Given the description of an element on the screen output the (x, y) to click on. 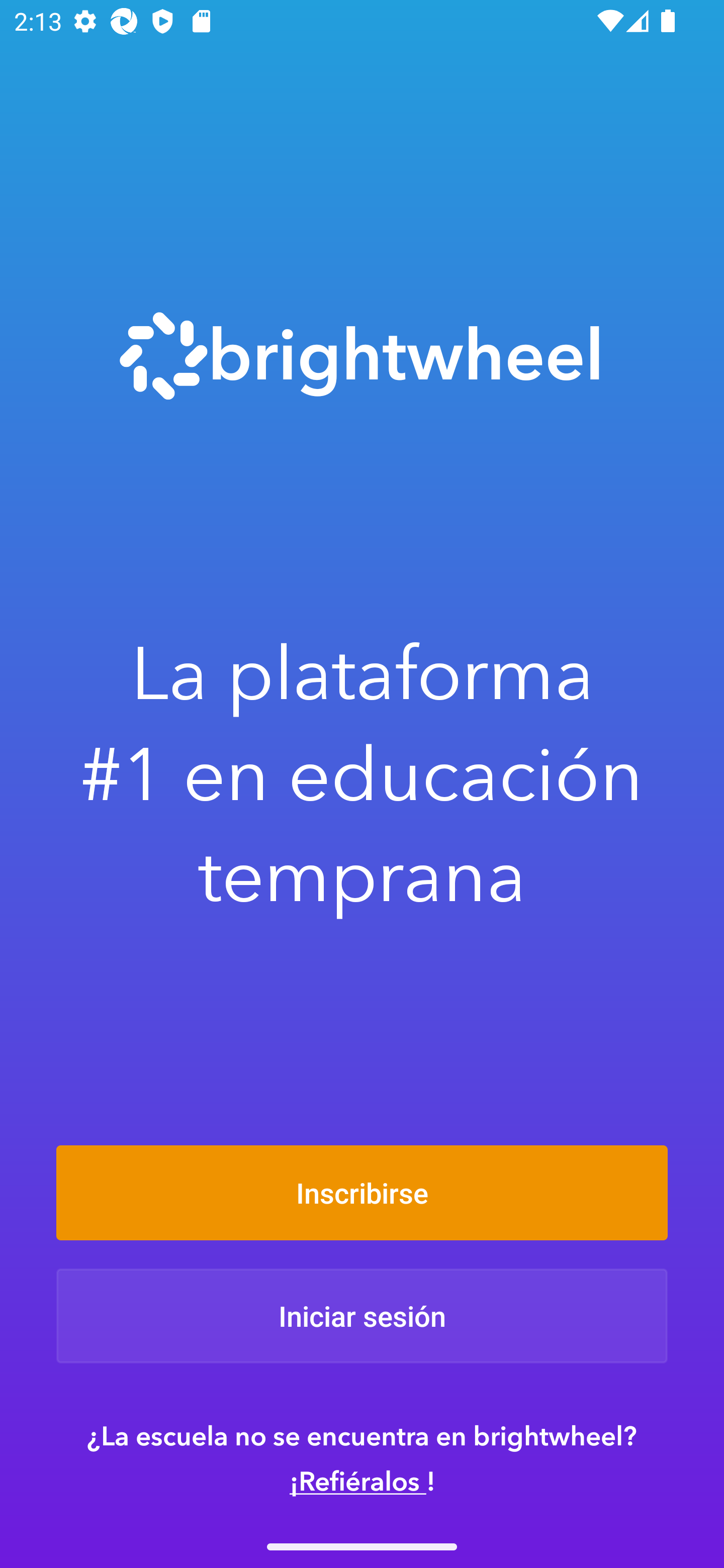
Inscribirse (361, 1192)
Iniciar sesión (361, 1316)
